Given the description of an element on the screen output the (x, y) to click on. 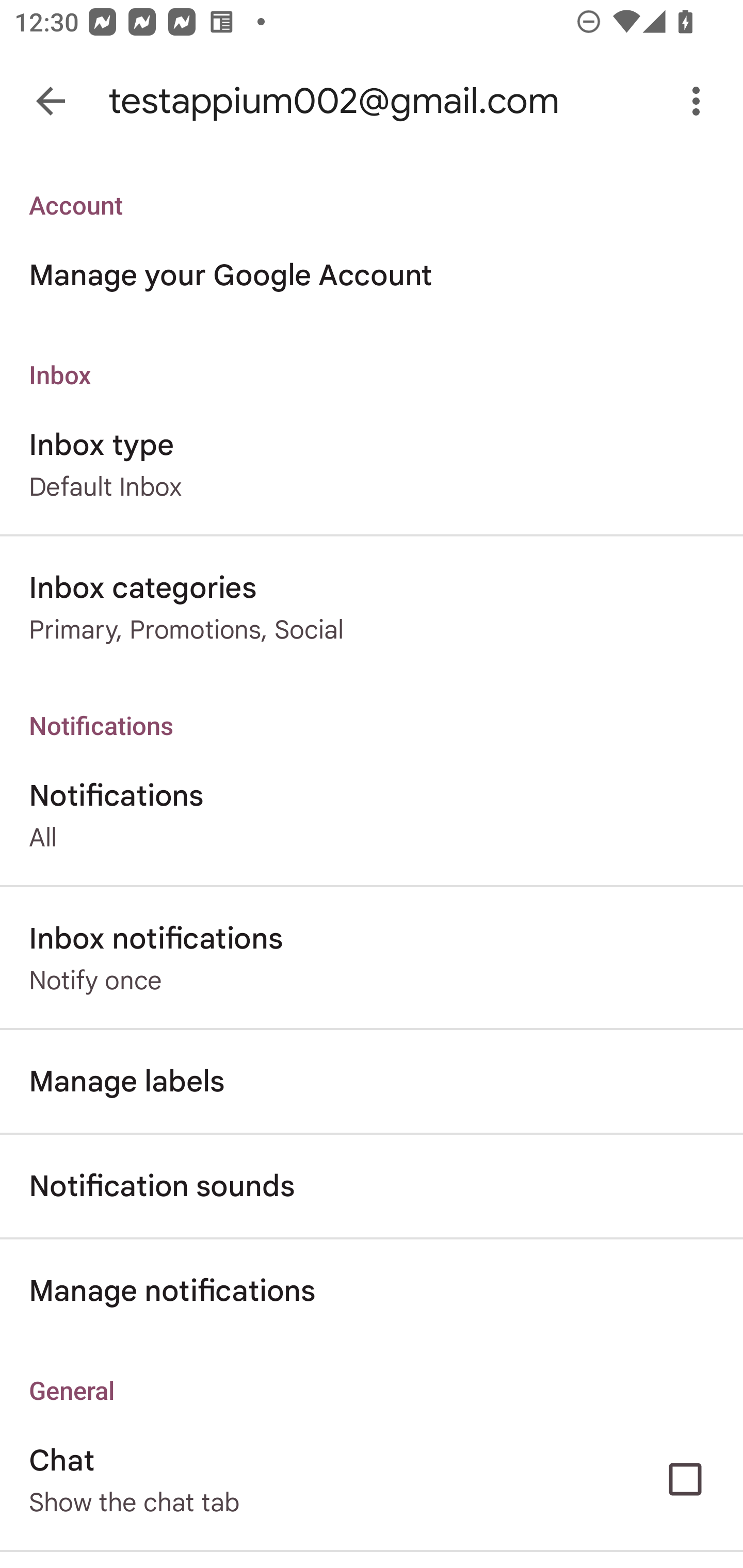
Navigate up (50, 101)
More options (699, 101)
Manage your Google Account (371, 275)
Inbox type Default Inbox (371, 463)
Inbox categories Primary, Promotions, Social (371, 606)
Notifications All (371, 814)
Inbox notifications Notify once (371, 957)
Manage labels (371, 1081)
Notification sounds (371, 1186)
Manage notifications (371, 1290)
Chat Show the chat tab (371, 1479)
